Given the description of an element on the screen output the (x, y) to click on. 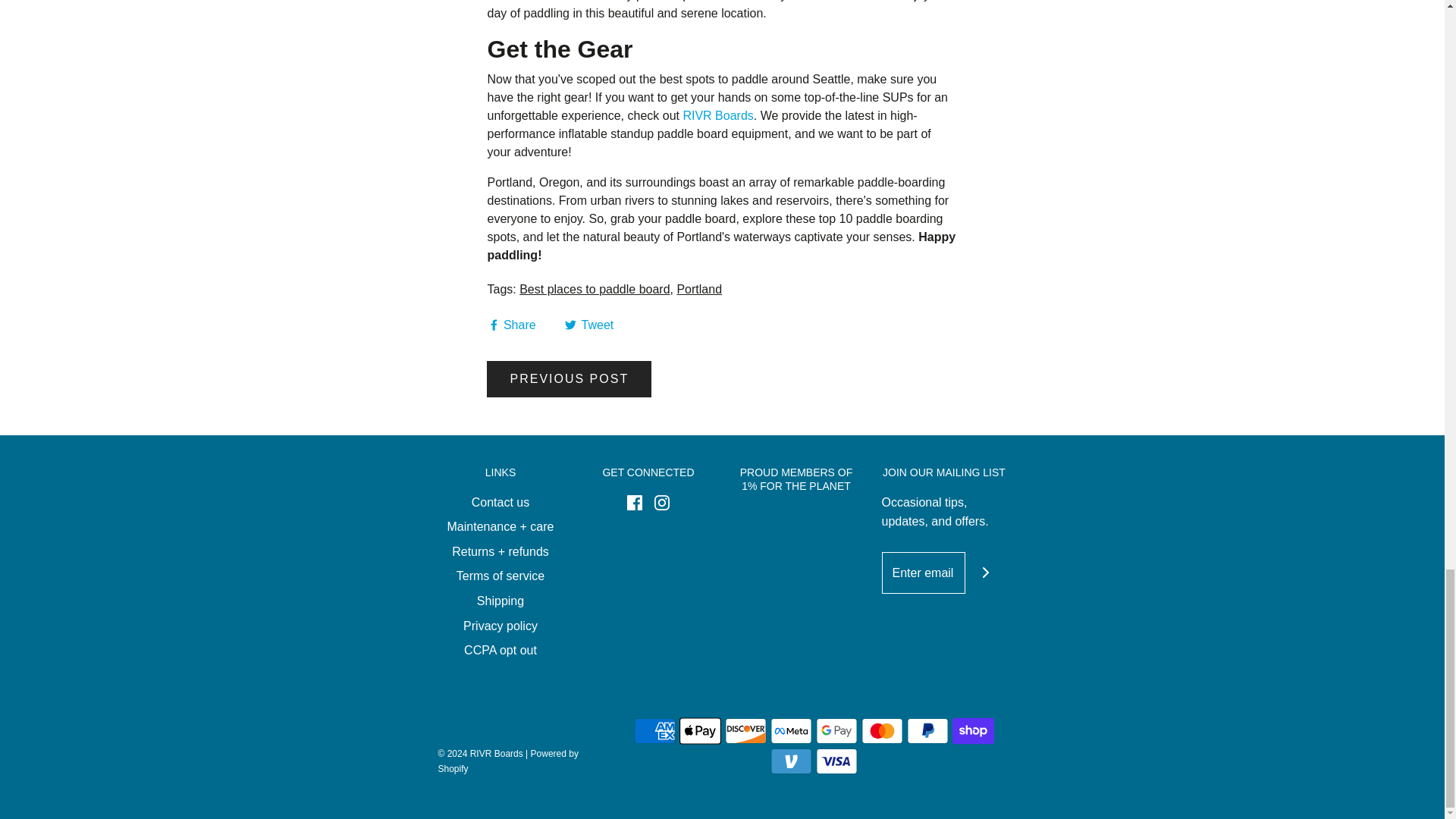
Privacy policy (500, 628)
Discover (746, 730)
Instagram icon (661, 502)
American Express (654, 730)
Facebook icon (634, 502)
RIVR Boards (717, 115)
PREVIOUS POST (568, 379)
Mastercard (881, 730)
PayPal (928, 730)
Shop Pay (973, 730)
